Given the description of an element on the screen output the (x, y) to click on. 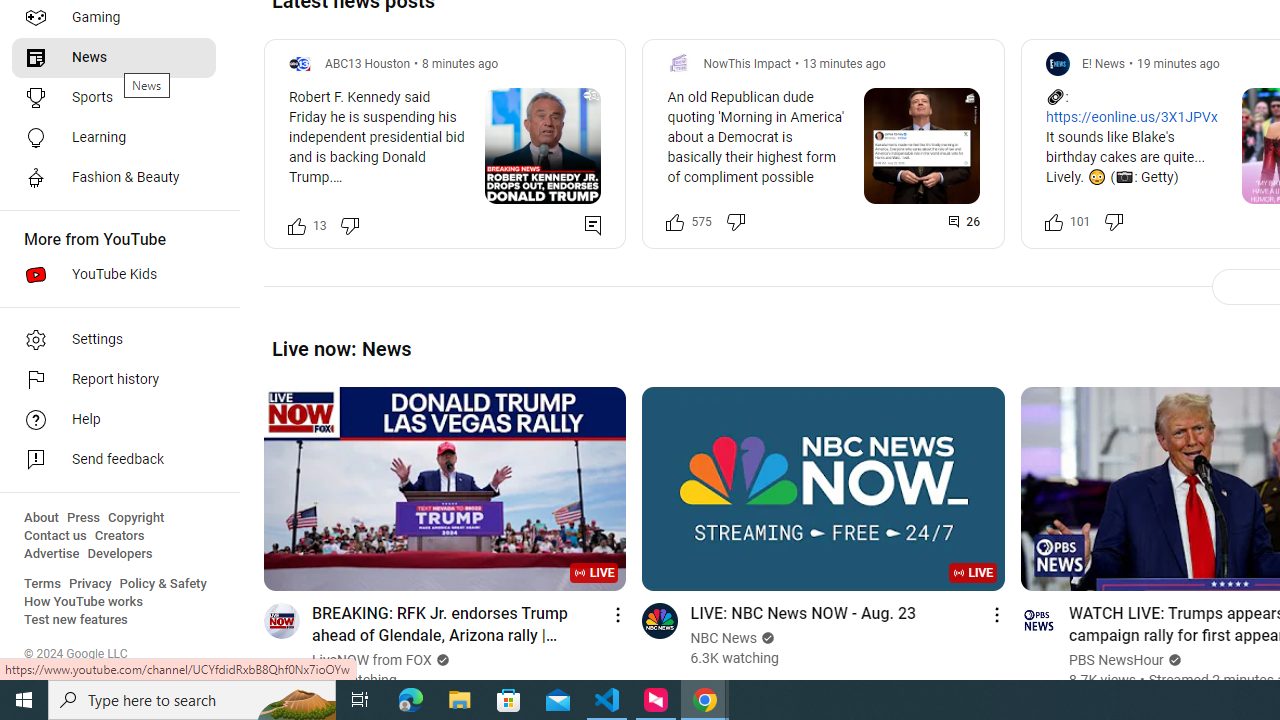
19 minutes ago (1177, 63)
Report history (113, 380)
Verified (1172, 660)
Like this post along with 575 other people (675, 221)
Policy & Safety (163, 584)
Sports (113, 97)
Send feedback (113, 459)
Settings (113, 339)
Learning (113, 137)
Terms (42, 584)
Action menu (996, 614)
About (41, 518)
Copyright (136, 518)
PBS NewsHour (1116, 660)
